Given the description of an element on the screen output the (x, y) to click on. 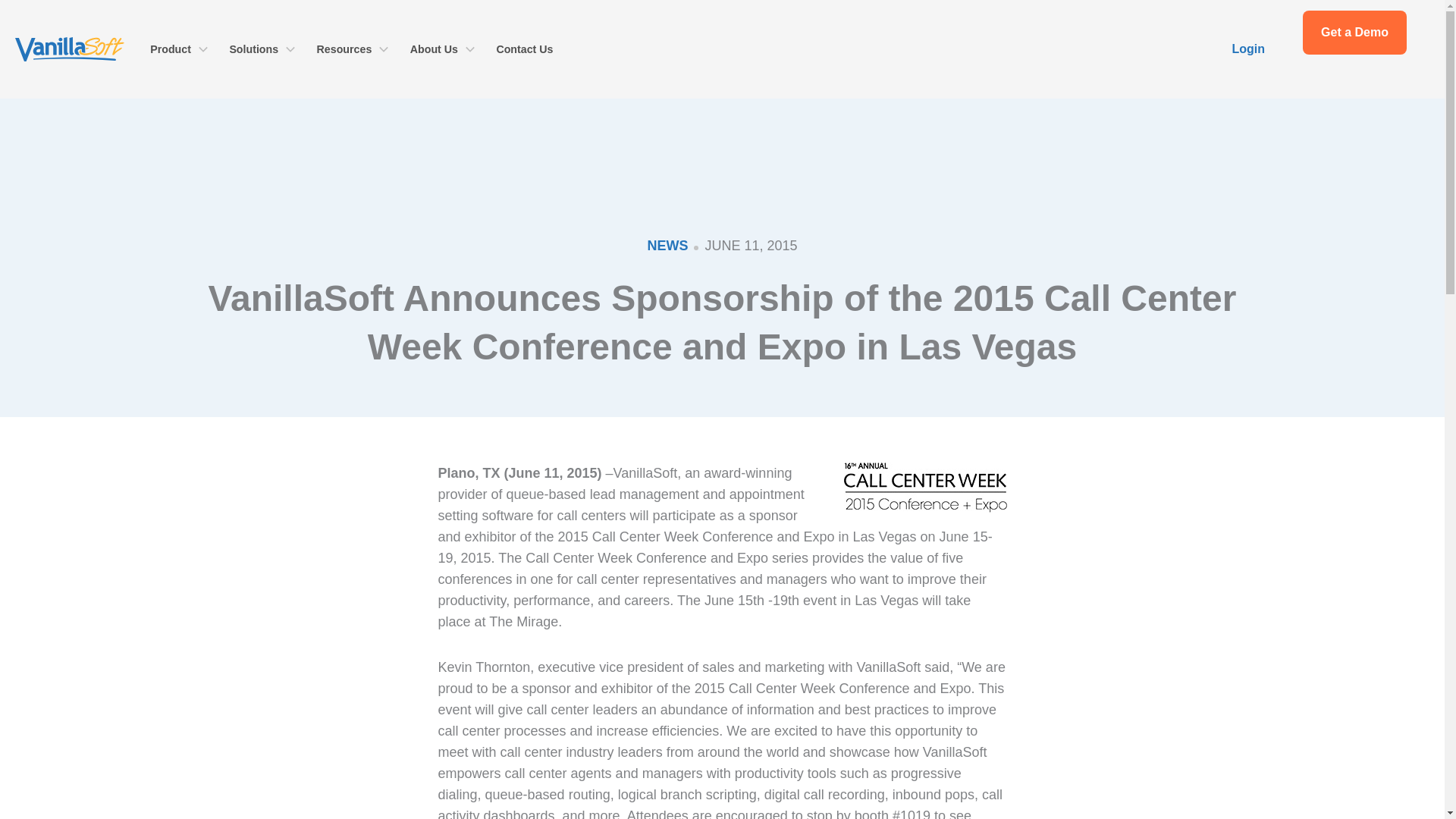
Product (178, 49)
Resources (351, 49)
Solutions (261, 49)
